Given the description of an element on the screen output the (x, y) to click on. 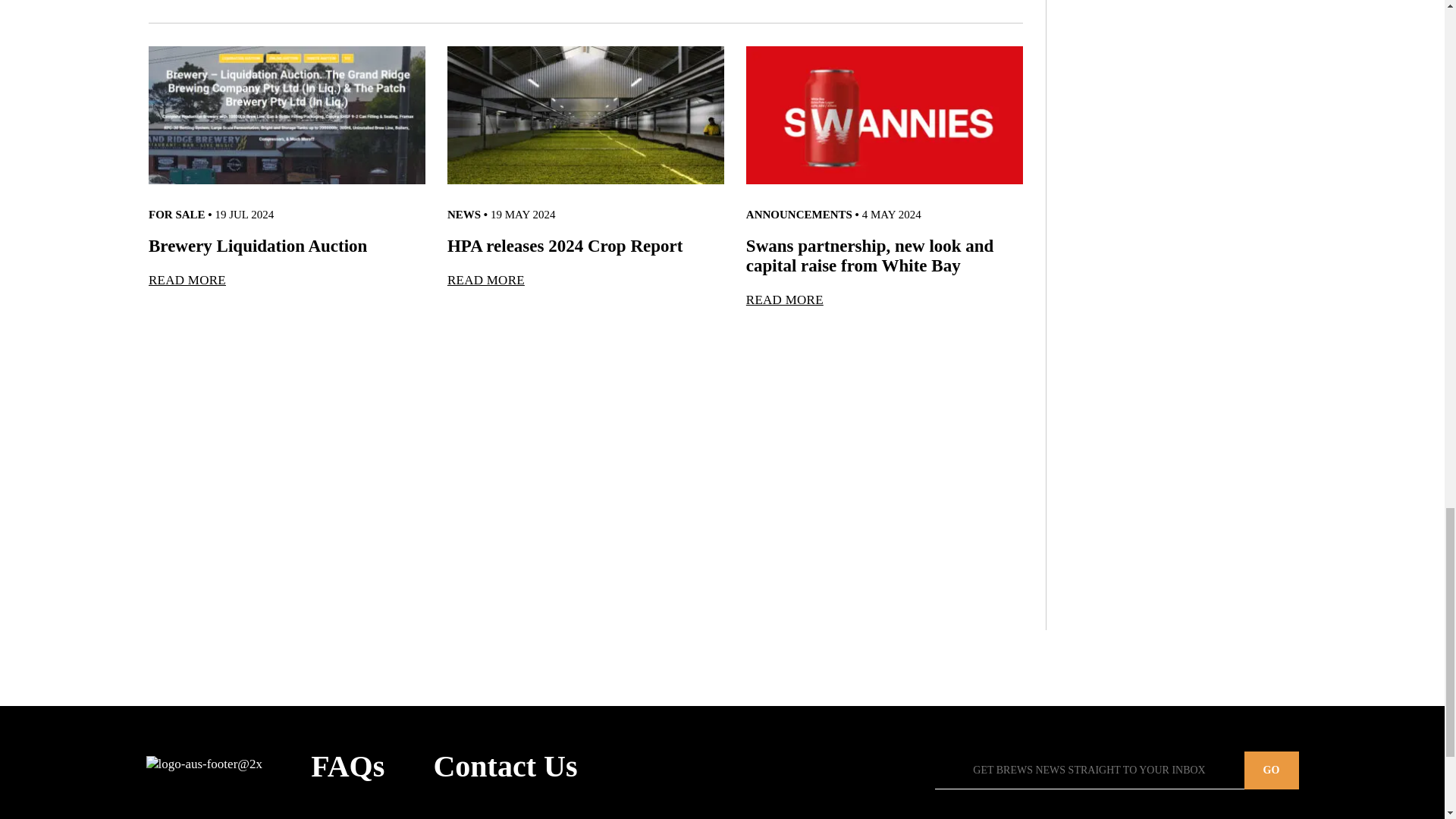
Go (1270, 770)
